Given the description of an element on the screen output the (x, y) to click on. 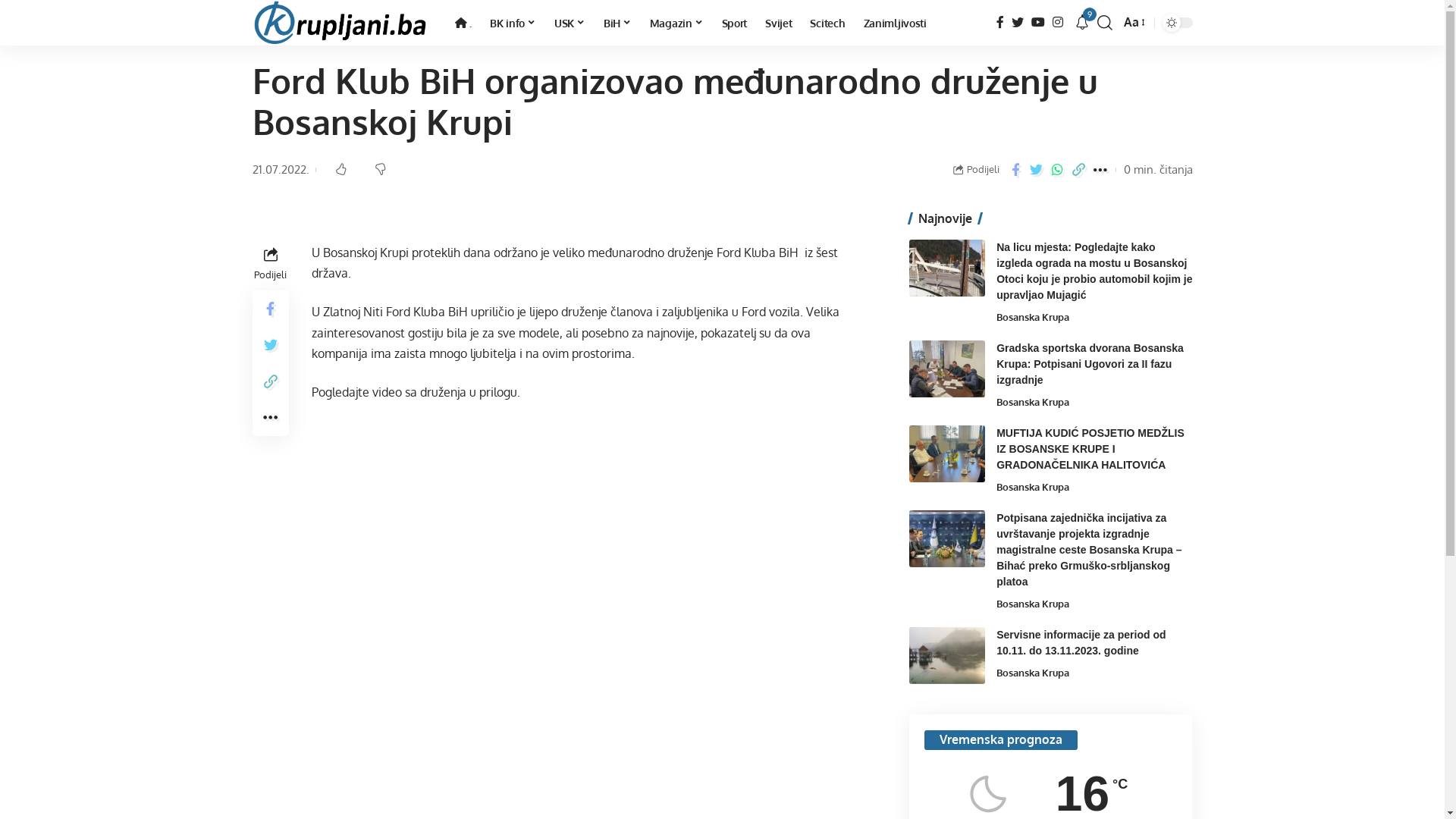
BK info Element type: text (512, 22)
Bosanska Krupa Element type: text (1032, 603)
Sport Element type: text (734, 22)
BiH Element type: text (617, 22)
Bosanska Krupa Element type: text (1032, 672)
Krupljani.BA | Informativni portal Element type: hover (340, 22)
9 Element type: text (1080, 22)
Svijet Element type: text (778, 22)
Magazin Element type: text (676, 22)
Scitech Element type: text (826, 22)
Zanimljivosti Element type: text (894, 22)
Bosanska Krupa Element type: text (1032, 486)
USK Element type: text (569, 22)
Bosanska Krupa Element type: text (1032, 316)
. Element type: text (463, 22)
Aa Element type: text (1132, 22)
Bosanska Krupa Element type: text (1032, 401)
